Given the description of an element on the screen output the (x, y) to click on. 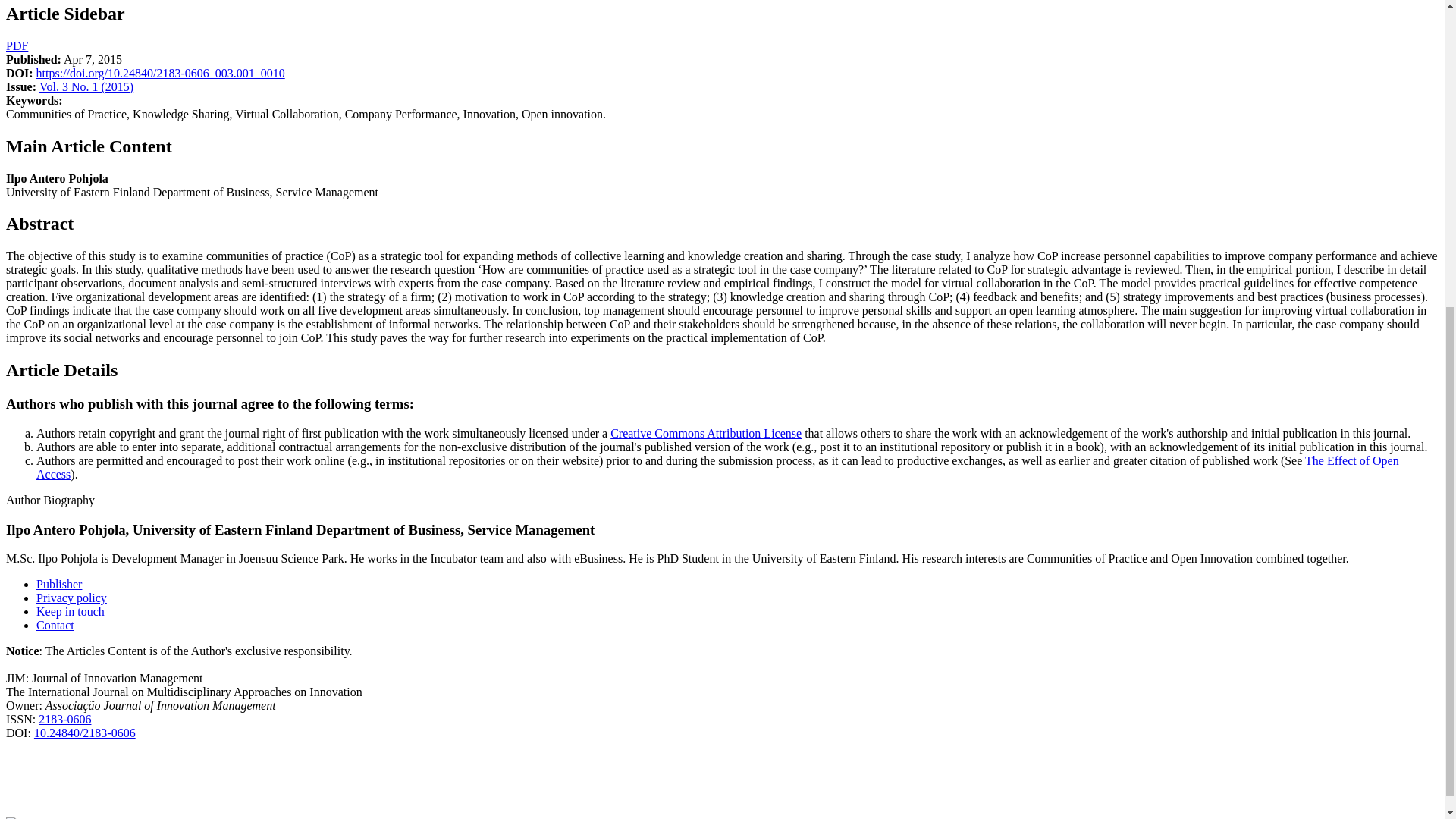
Publisher (58, 584)
Publisher (58, 584)
ROAD (64, 718)
Privacy Statement (71, 597)
PDF (16, 45)
Contact (55, 625)
DOI (84, 732)
2183-0606 (64, 718)
Keep in touch (70, 611)
Privacy policy (71, 597)
Contact (55, 625)
Creative Commons Attribution License (706, 432)
The Effect of Open Access (717, 467)
Keep-in-Touch (70, 611)
